Given the description of an element on the screen output the (x, y) to click on. 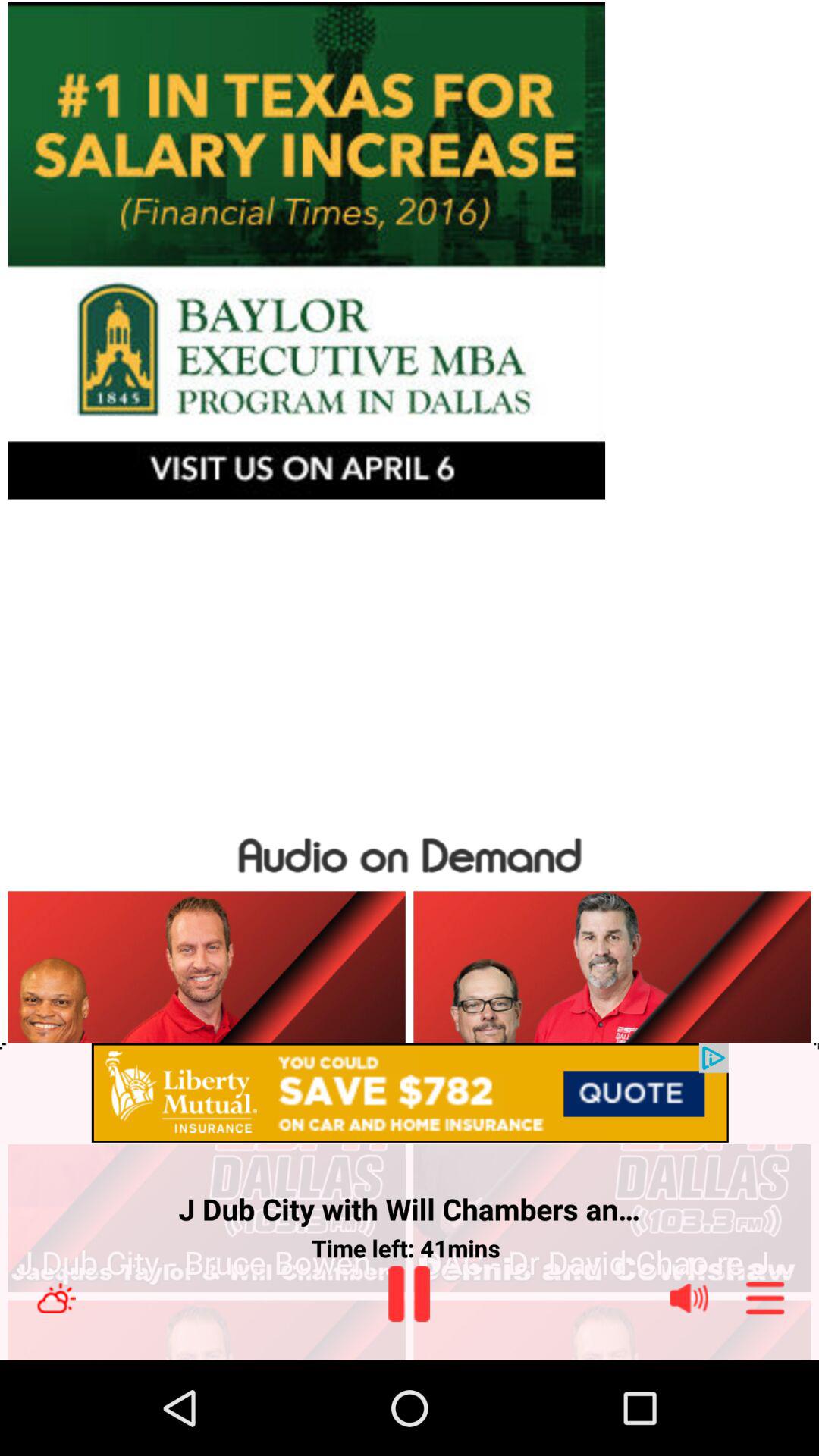
tap the item above j dub city item (409, 1093)
